Given the description of an element on the screen output the (x, y) to click on. 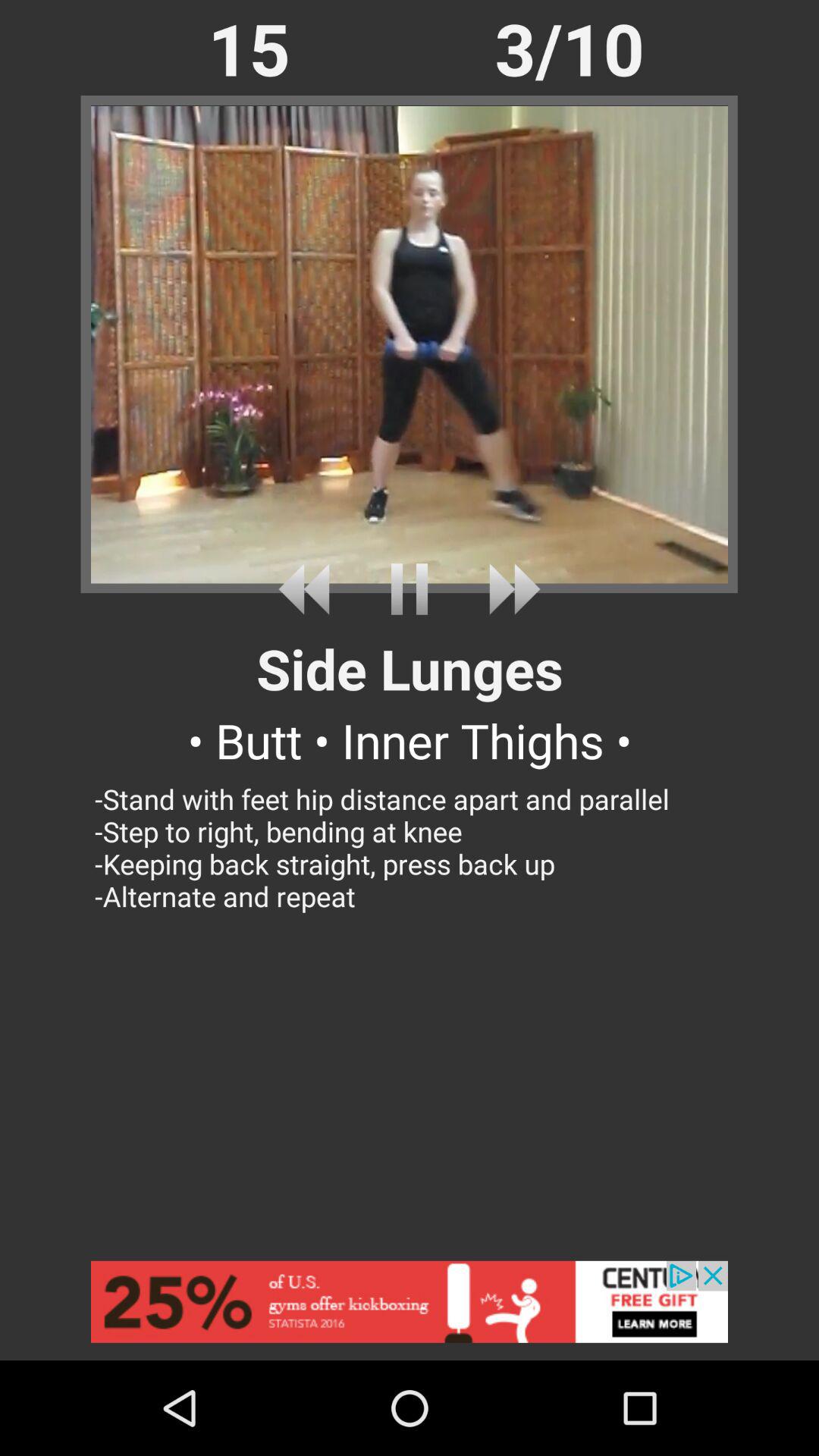
goto next (508, 589)
